Given the description of an element on the screen output the (x, y) to click on. 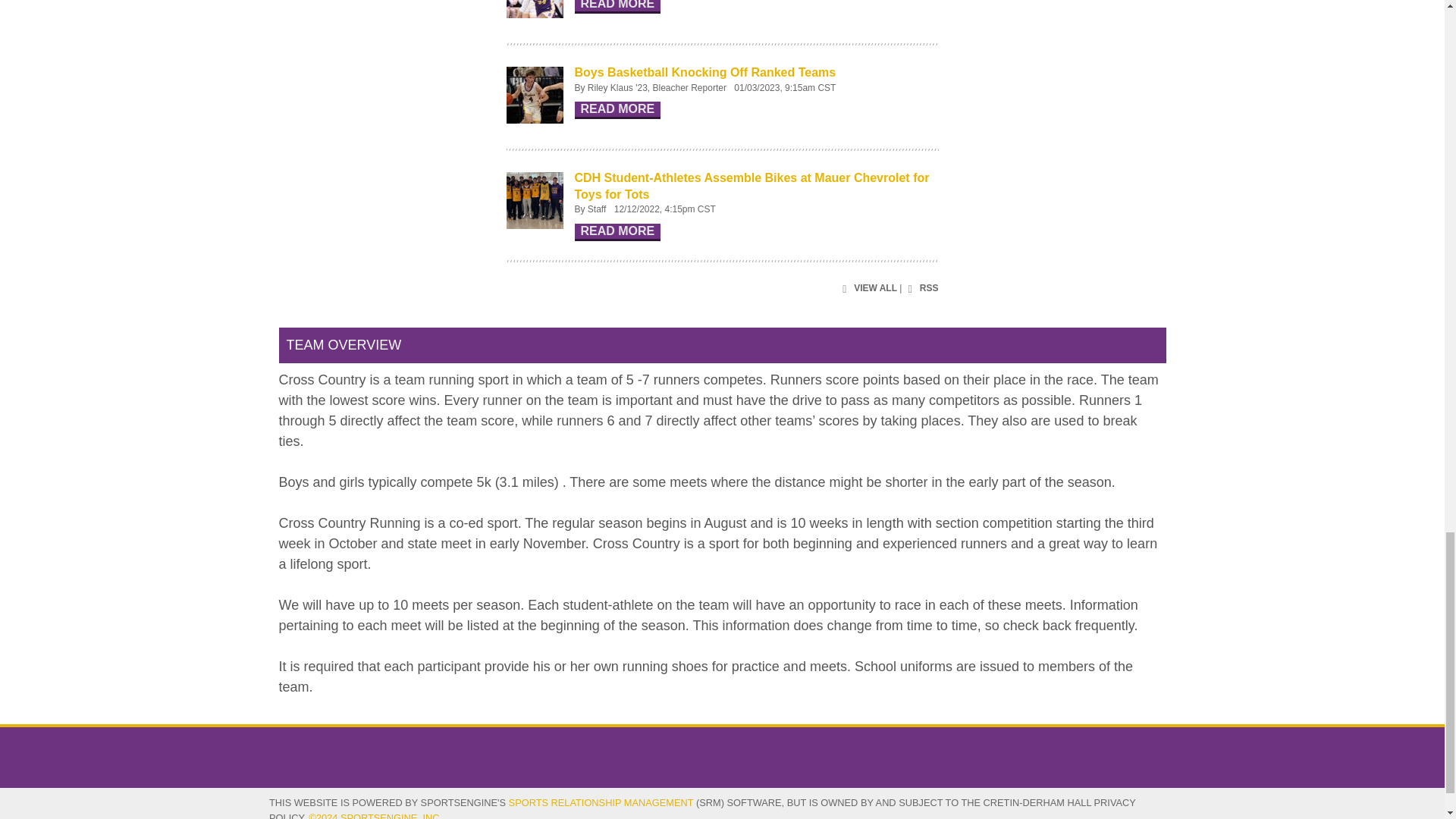
View All (867, 289)
Subscribe to RSS Feed (921, 289)
